Given the description of an element on the screen output the (x, y) to click on. 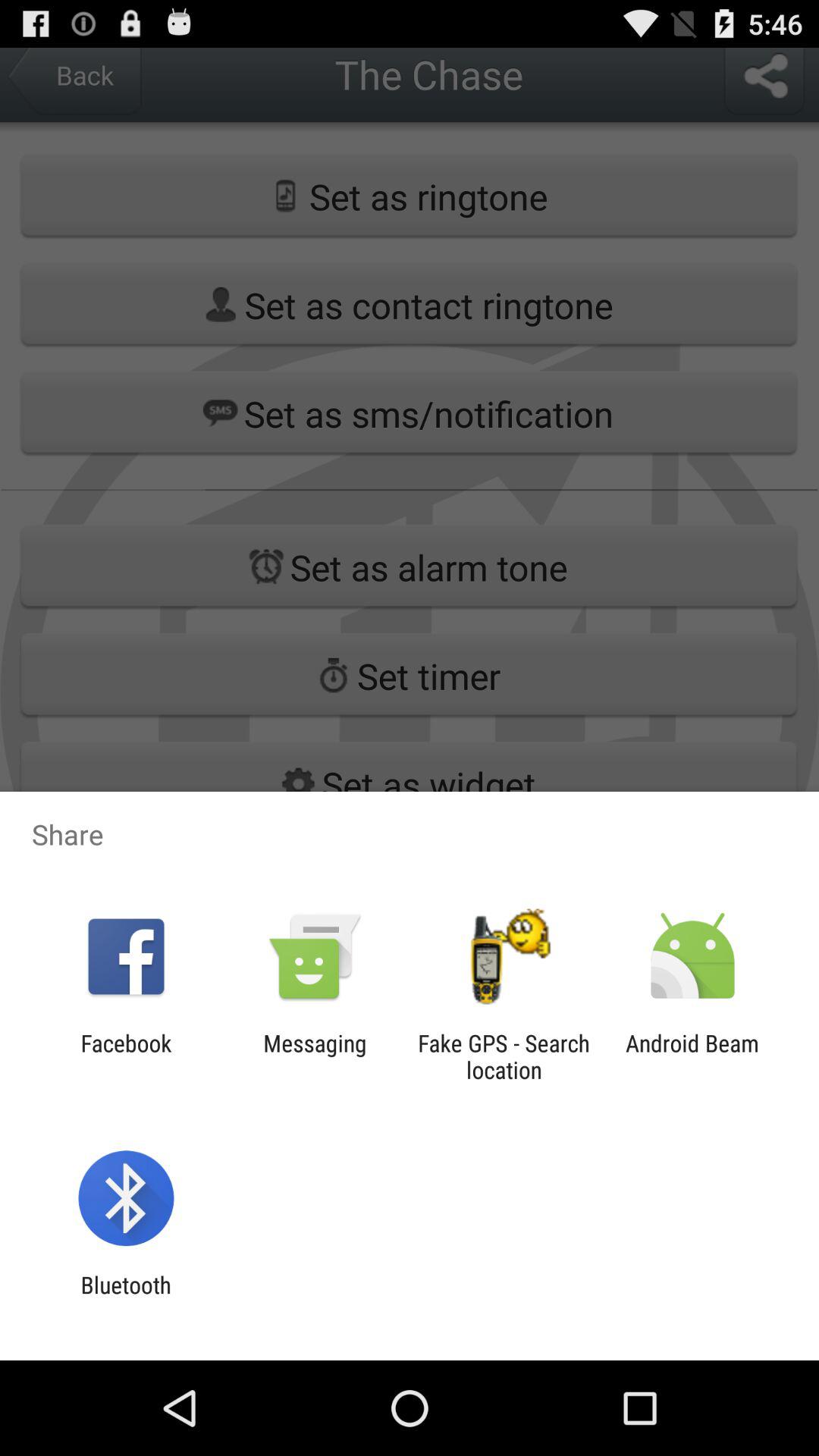
flip until the facebook item (125, 1056)
